Given the description of an element on the screen output the (x, y) to click on. 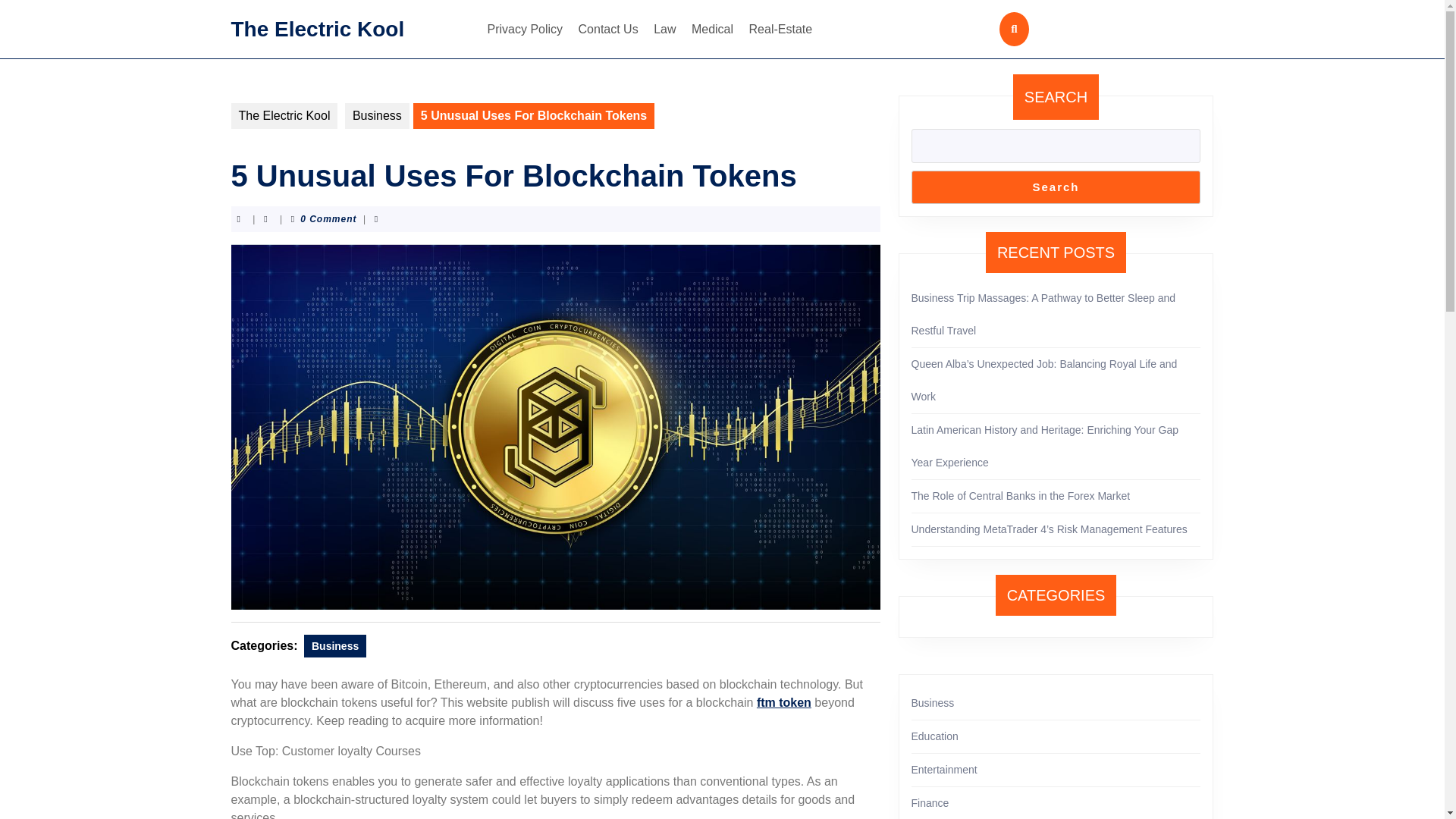
Education (934, 736)
Law (664, 28)
The Role of Central Banks in the Forex Market (1021, 495)
Real-Estate (780, 28)
The Electric Kool (283, 115)
ftm token (783, 702)
Business (933, 702)
Business (335, 644)
